Given the description of an element on the screen output the (x, y) to click on. 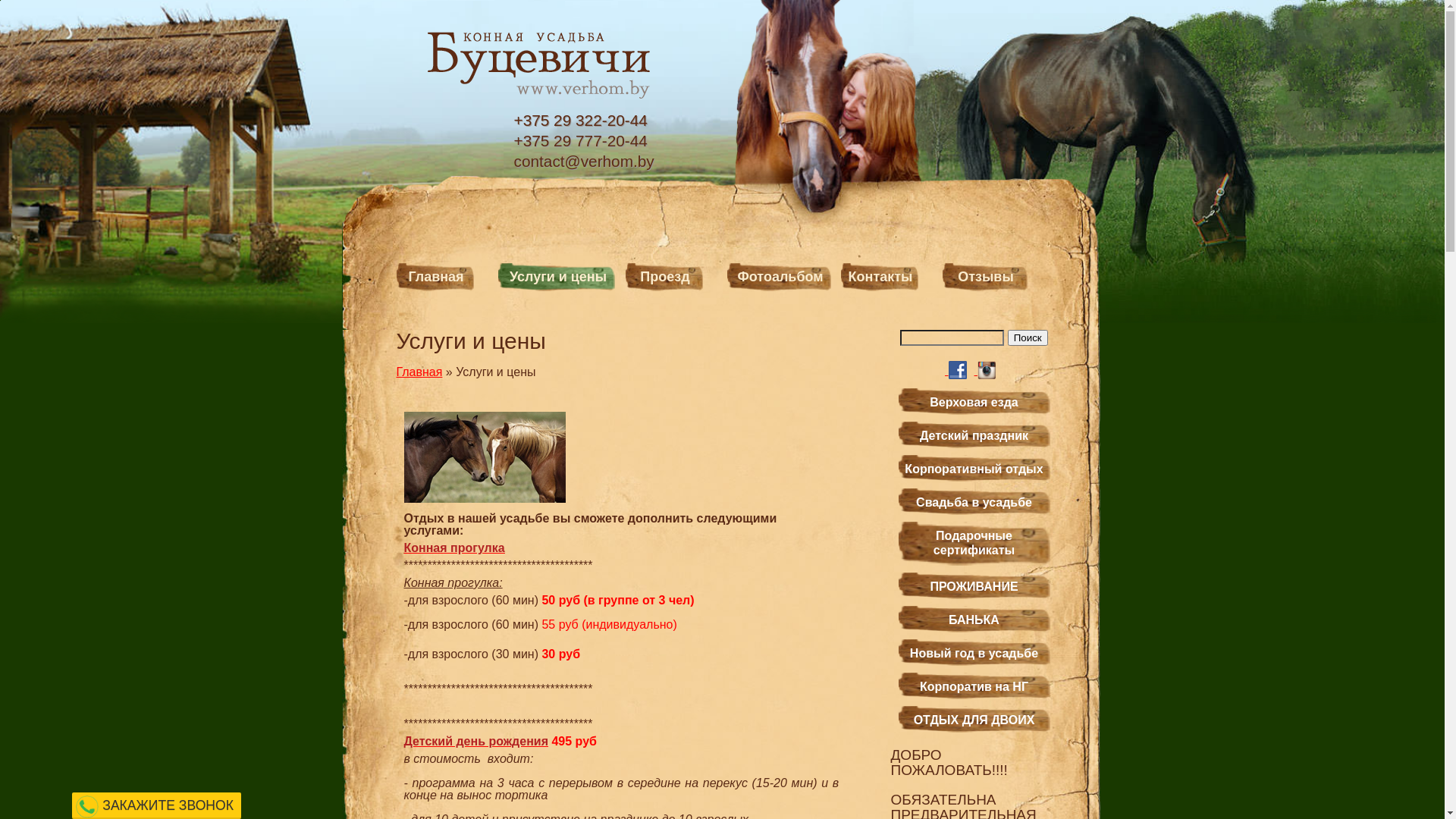
instagram.com/konnayausadba/ Element type: hover (986, 369)
  Element type: text (945, 370)
+375 29 322-20-44 Element type: text (584, 119)
+375 29 777-20-44 Element type: text (584, 140)
contact@verhom.by Element type: text (584, 160)
facebook.com/konnayausadba Element type: hover (956, 369)
